Given the description of an element on the screen output the (x, y) to click on. 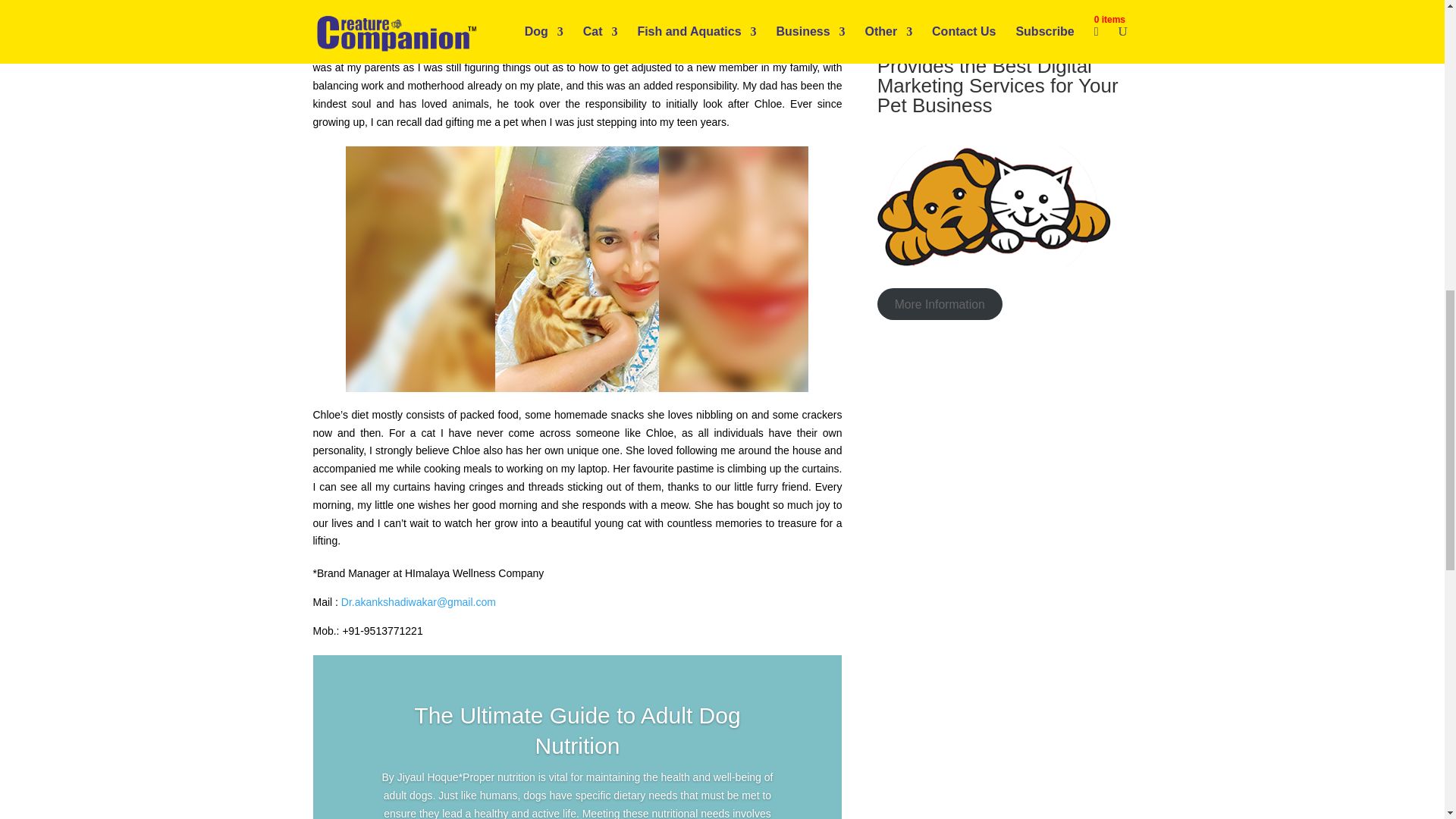
grow up alongside a pet (369, 0)
